Given the description of an element on the screen output the (x, y) to click on. 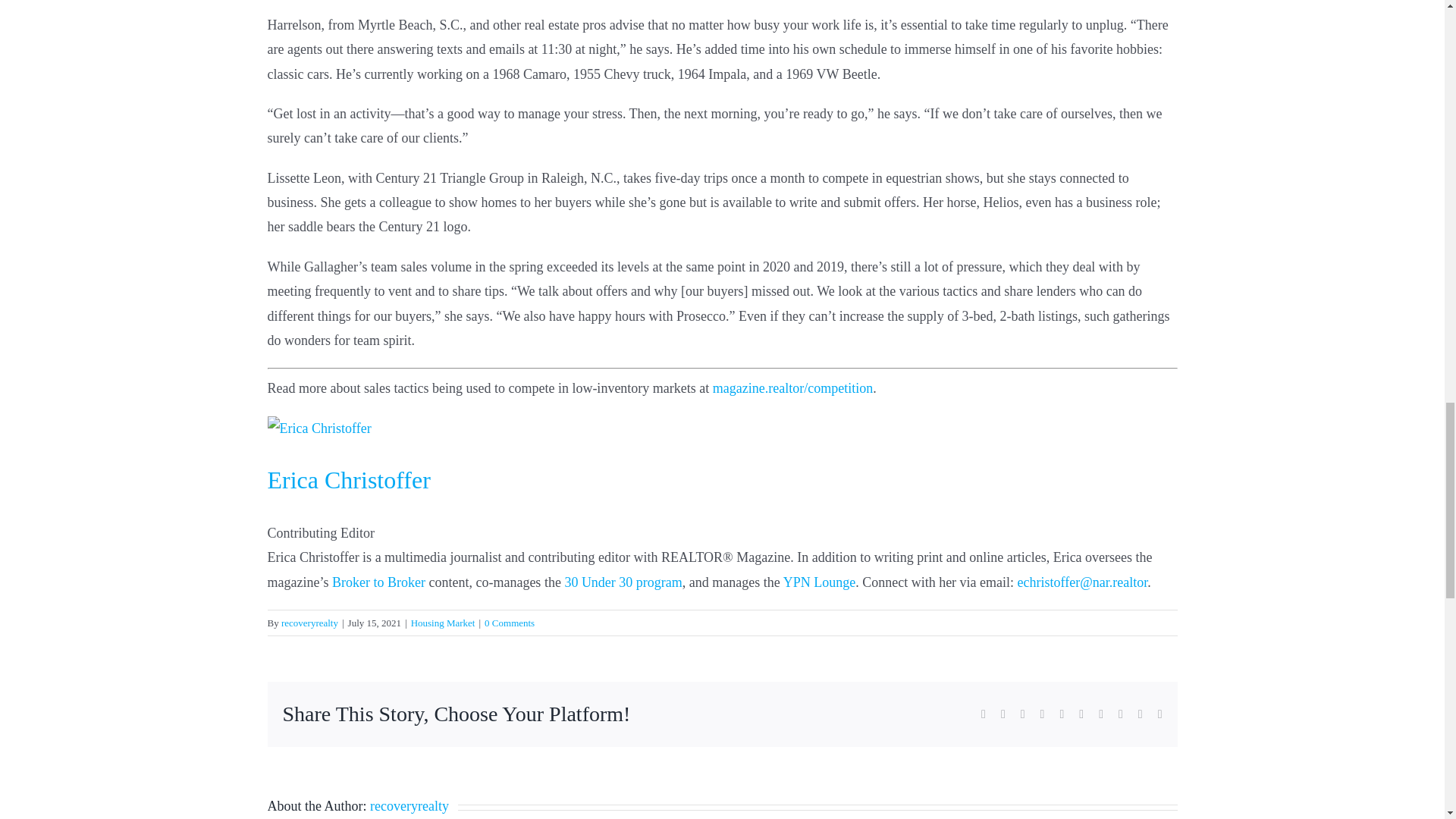
Posts by recoveryrealty (309, 622)
